Given the description of an element on the screen output the (x, y) to click on. 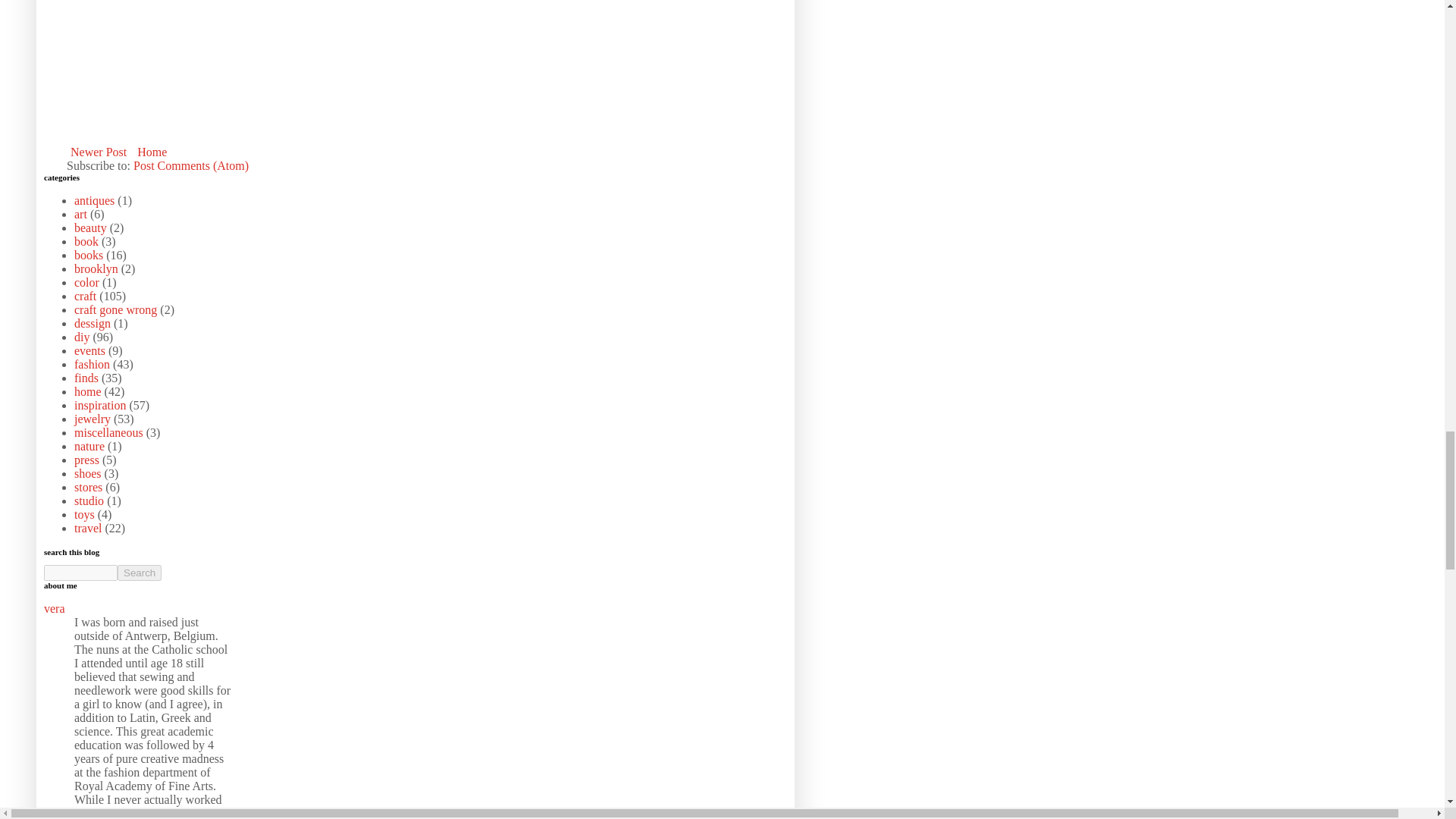
events (89, 350)
craft gone wrong (115, 309)
Search (139, 572)
search (80, 572)
inspiration (99, 404)
books (88, 254)
book (86, 241)
beauty (90, 227)
dessign (92, 323)
Home (151, 151)
home (87, 391)
fashion (92, 364)
antiques (94, 200)
Search (139, 572)
color (86, 282)
